Given the description of an element on the screen output the (x, y) to click on. 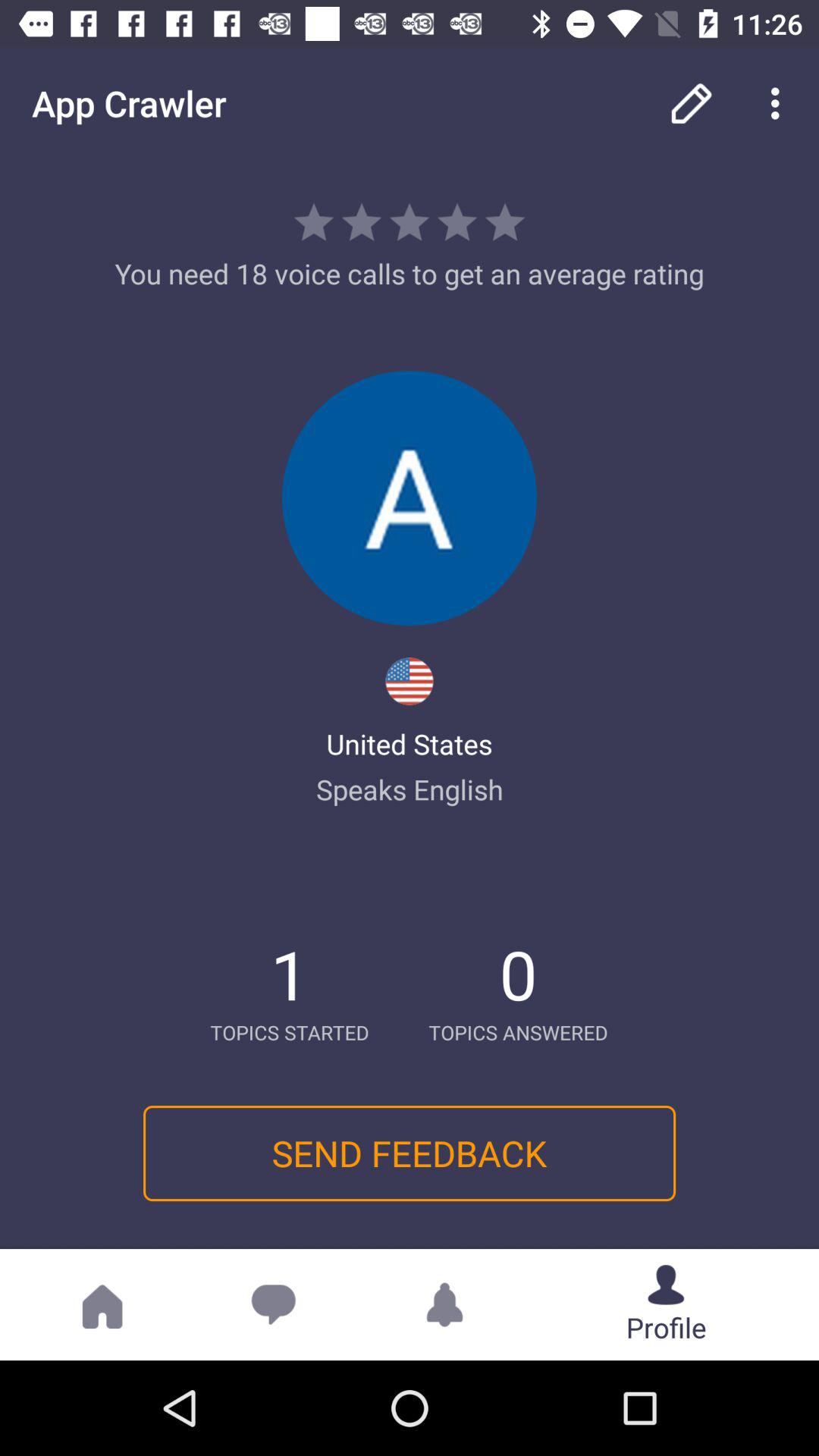
turn on the icon above you need 18 icon (779, 103)
